Given the description of an element on the screen output the (x, y) to click on. 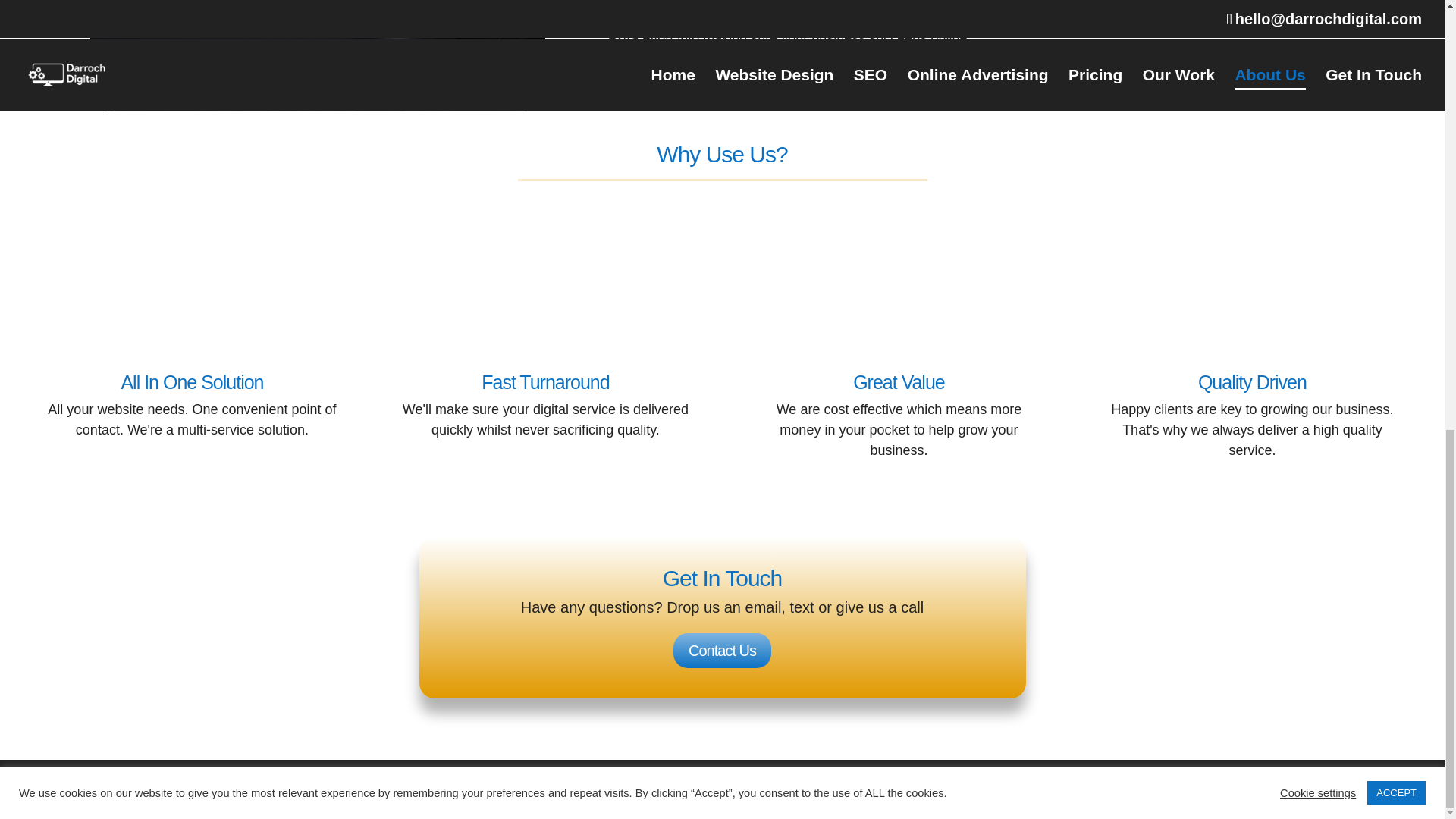
About-Us-v4 (317, 55)
Cookie Policy (859, 780)
Get In Touch (948, 780)
Online Advertising (555, 780)
About Us (779, 780)
Home (328, 780)
Pricing (643, 780)
SEO (474, 780)
Our Work (708, 780)
Website Design (402, 780)
Contact Us (721, 650)
